Given the description of an element on the screen output the (x, y) to click on. 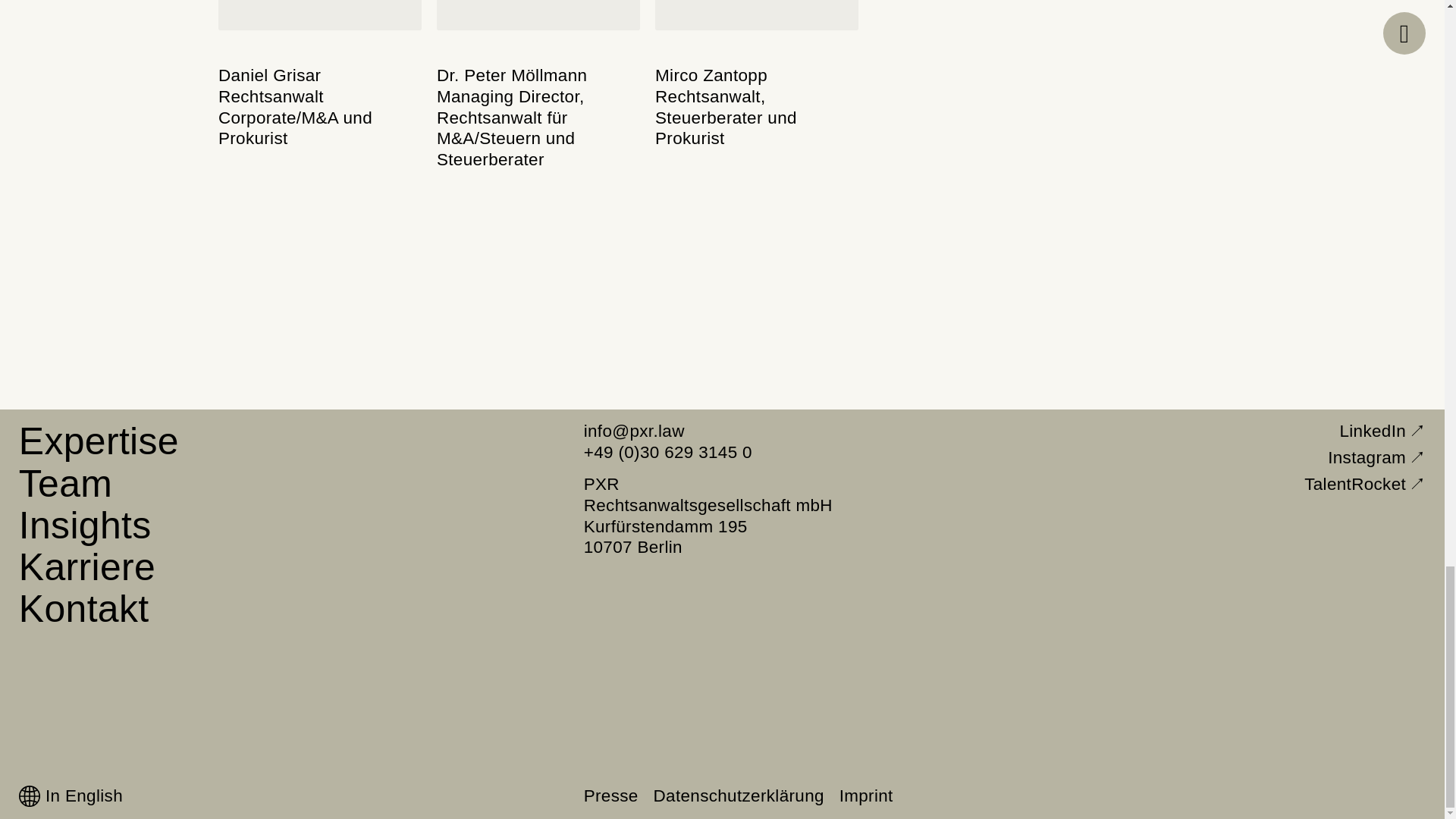
Expertise (96, 440)
LinkedIn (1383, 430)
Presse (611, 795)
Kontakt (757, 76)
In English (82, 608)
Insights (69, 795)
Karriere (82, 524)
Imprint (85, 566)
Team (866, 795)
Instagram (63, 482)
TalentRocket (1377, 456)
